Given the description of an element on the screen output the (x, y) to click on. 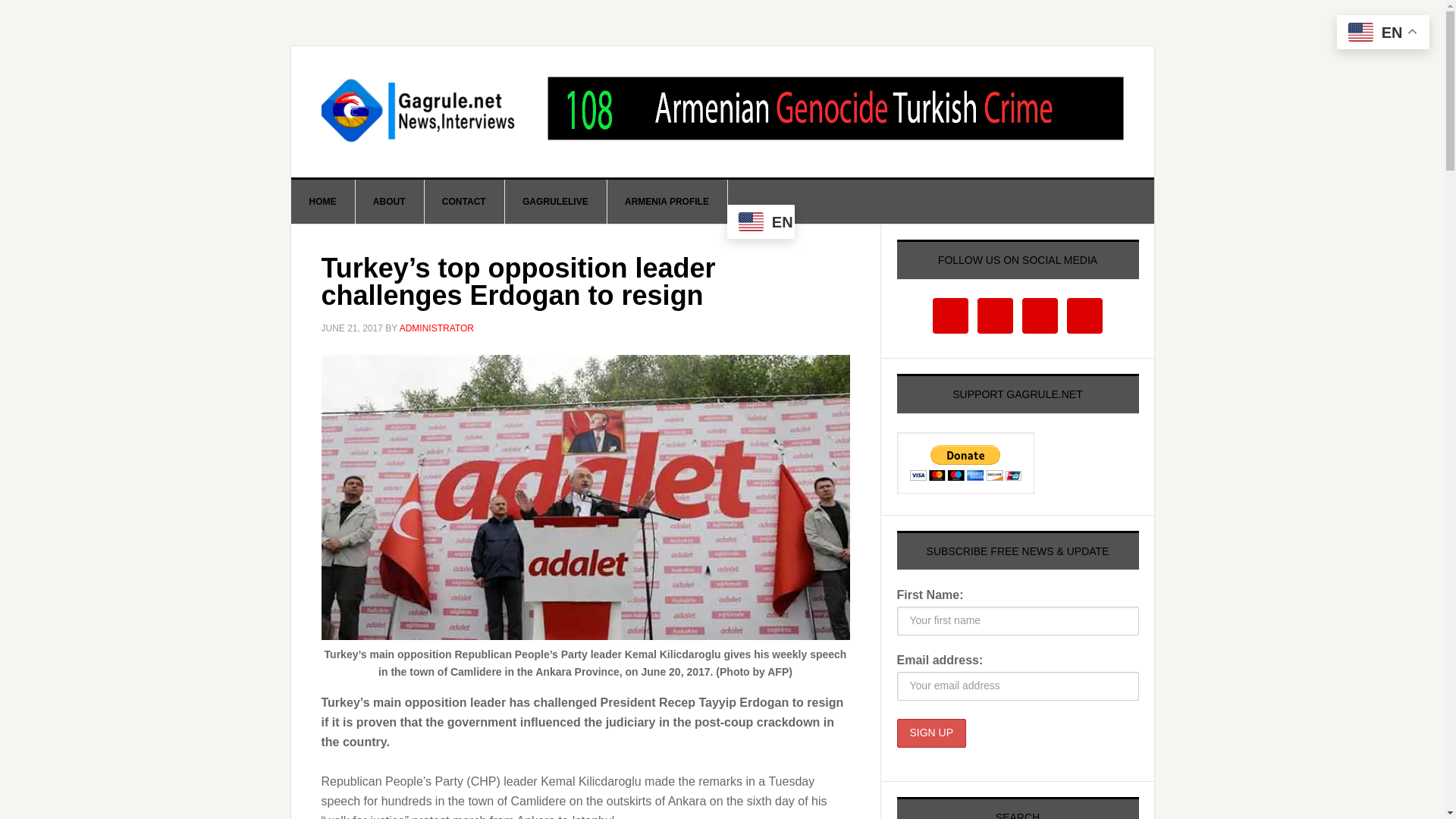
CONTACT (464, 201)
ABOUT (390, 201)
HOME (323, 201)
GAGRULE.NET (419, 110)
Contact (464, 201)
ADMINISTRATOR (436, 327)
Sign up (931, 733)
About (390, 201)
ARMENIA PROFILE (667, 201)
GAGRULELIVE (555, 201)
